Given the description of an element on the screen output the (x, y) to click on. 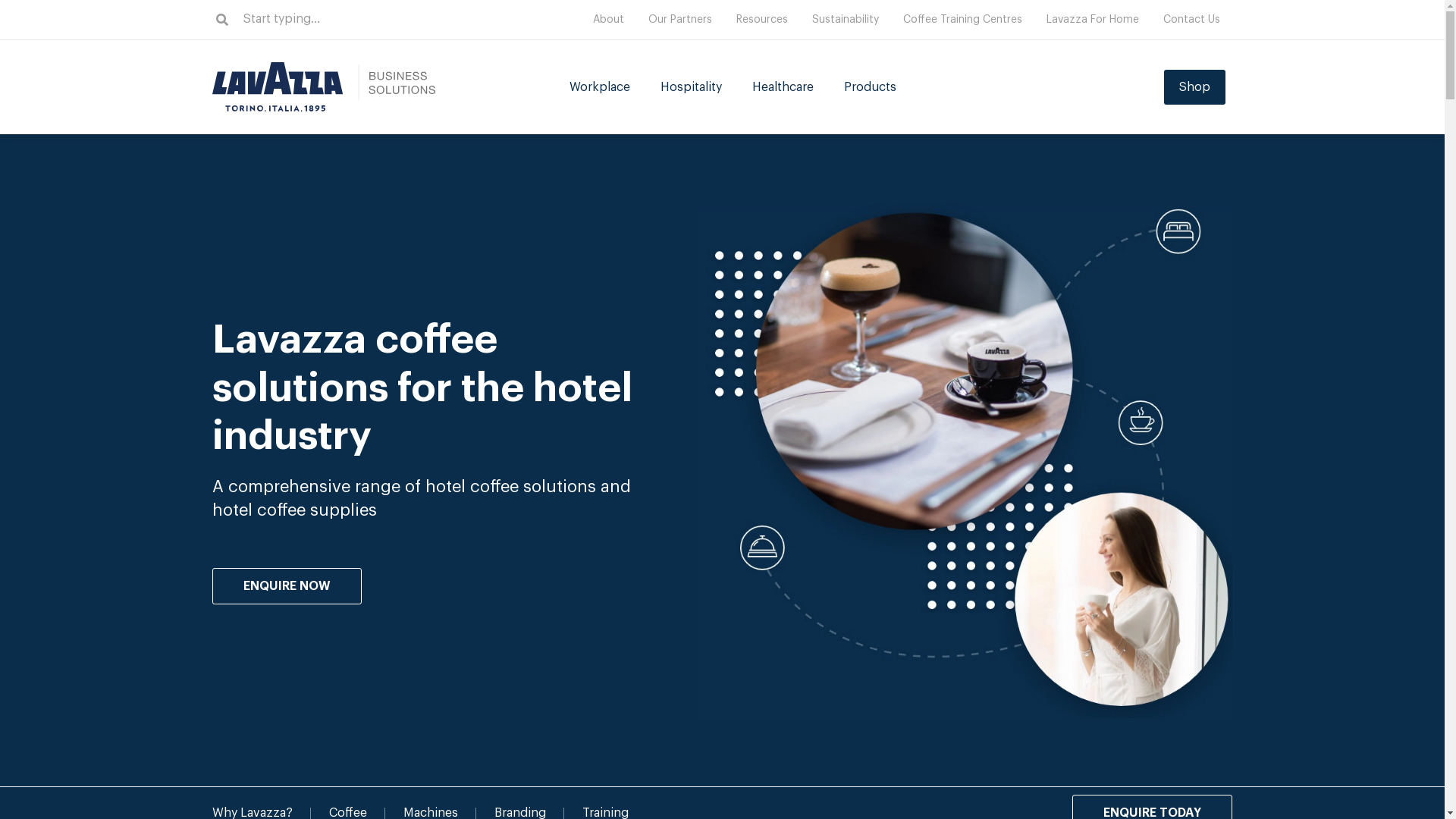
About Element type: text (608, 19)
Products Element type: text (869, 86)
Shop Element type: text (1194, 86)
Contact Us Element type: text (1191, 19)
Workplace Element type: text (599, 86)
Sustainability Element type: text (845, 19)
Our Partners Element type: text (680, 19)
Lavazza For Home Element type: text (1092, 19)
Hospitality Element type: text (691, 86)
Coffee Training Centres Element type: text (962, 19)
Healthcare Element type: text (782, 86)
Resources Element type: text (762, 19)
ENQUIRE NOW Element type: text (286, 585)
